Given the description of an element on the screen output the (x, y) to click on. 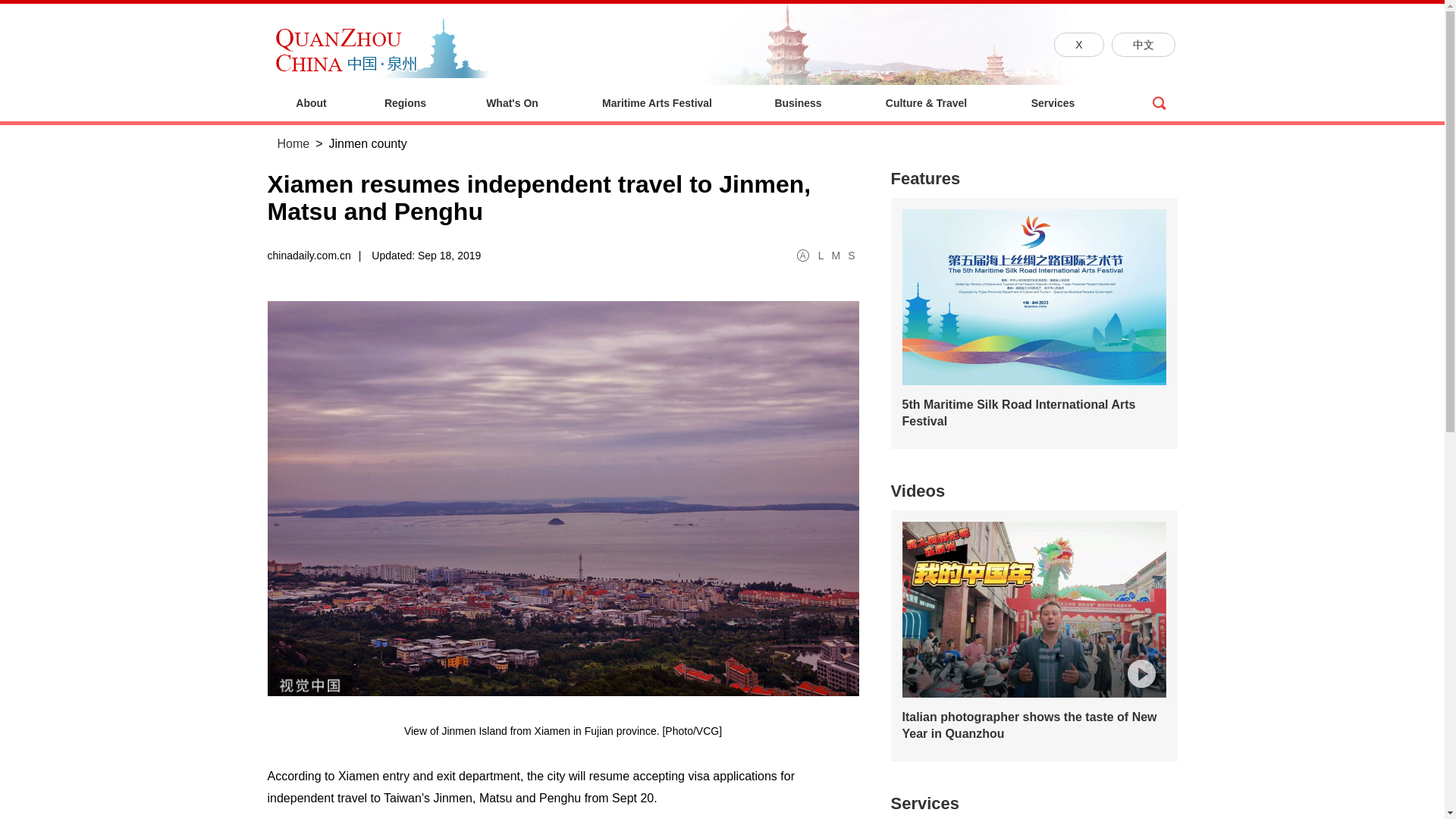
What's On (511, 103)
X (1078, 44)
Business (797, 103)
btn (1158, 103)
Services (1052, 103)
Regions (404, 103)
Maritime Arts Festival (656, 103)
Home (294, 143)
About (310, 103)
